Given the description of an element on the screen output the (x, y) to click on. 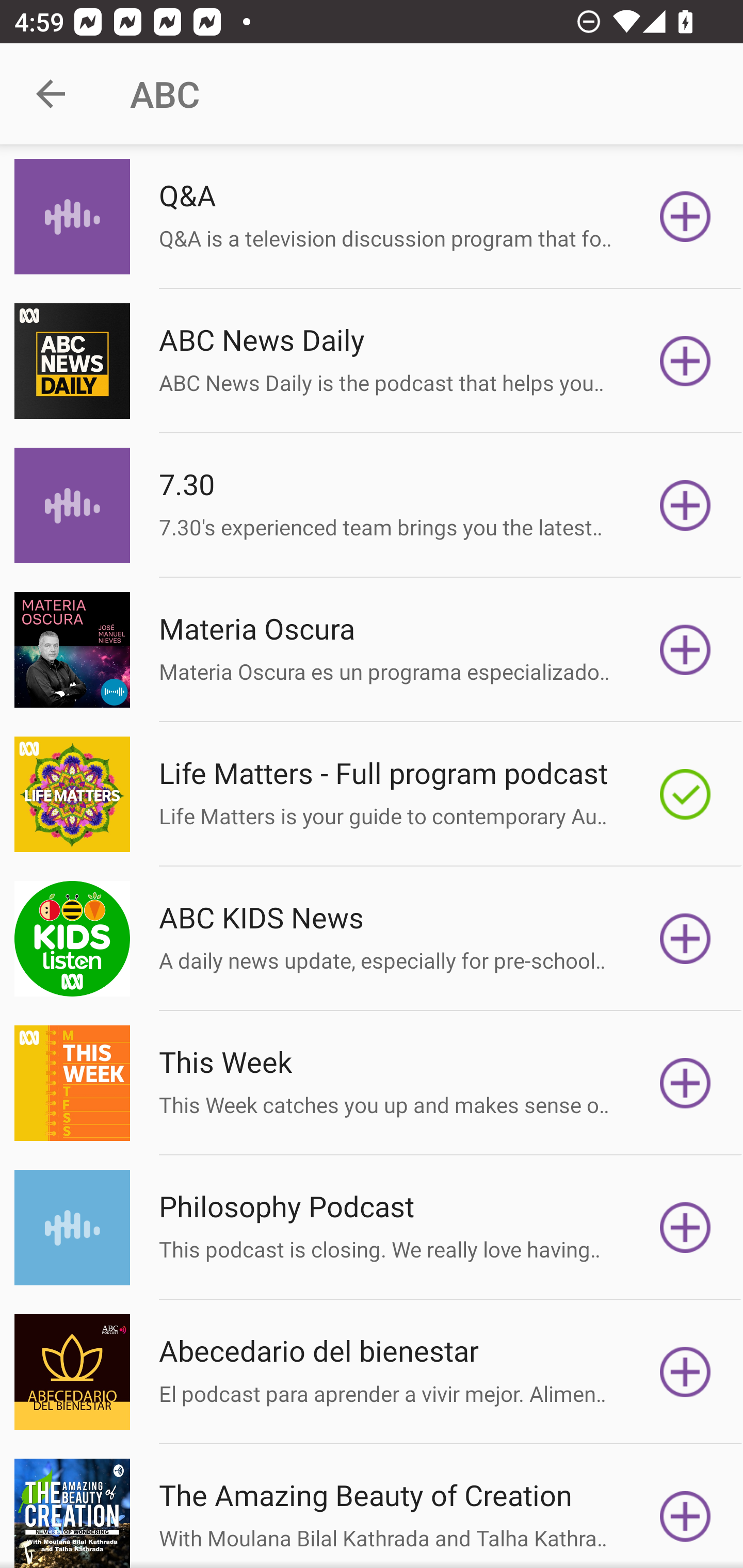
Navigate up (50, 93)
Subscribe (685, 216)
Subscribe (685, 360)
Subscribe (685, 505)
Subscribe (685, 649)
Subscribed (685, 793)
Subscribe (685, 939)
Subscribe (685, 1083)
Subscribe (685, 1227)
Subscribe (685, 1371)
Subscribe (685, 1513)
